Given the description of an element on the screen output the (x, y) to click on. 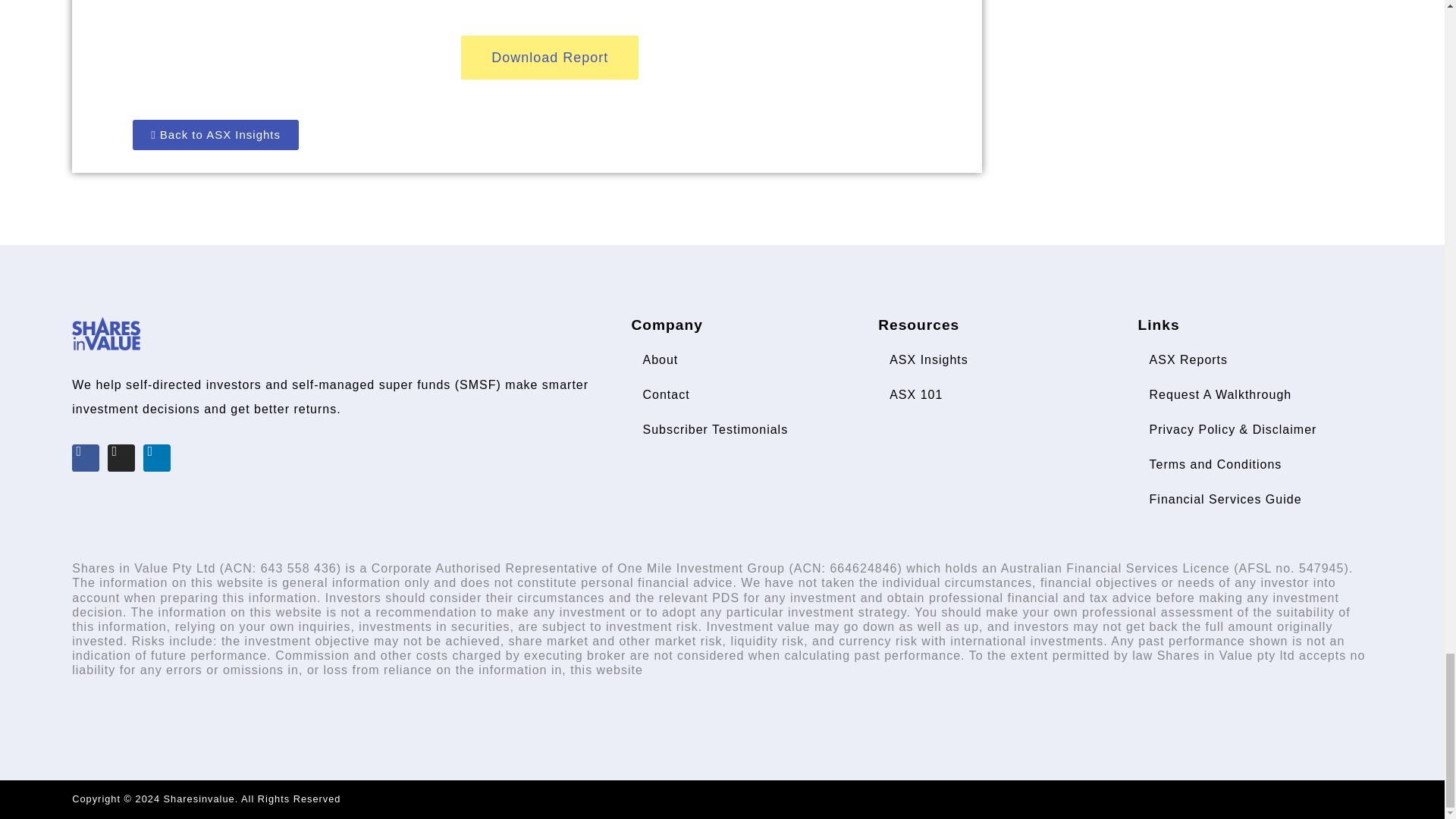
Back to ASX Insights (215, 134)
Download Report (549, 57)
